Given the description of an element on the screen output the (x, y) to click on. 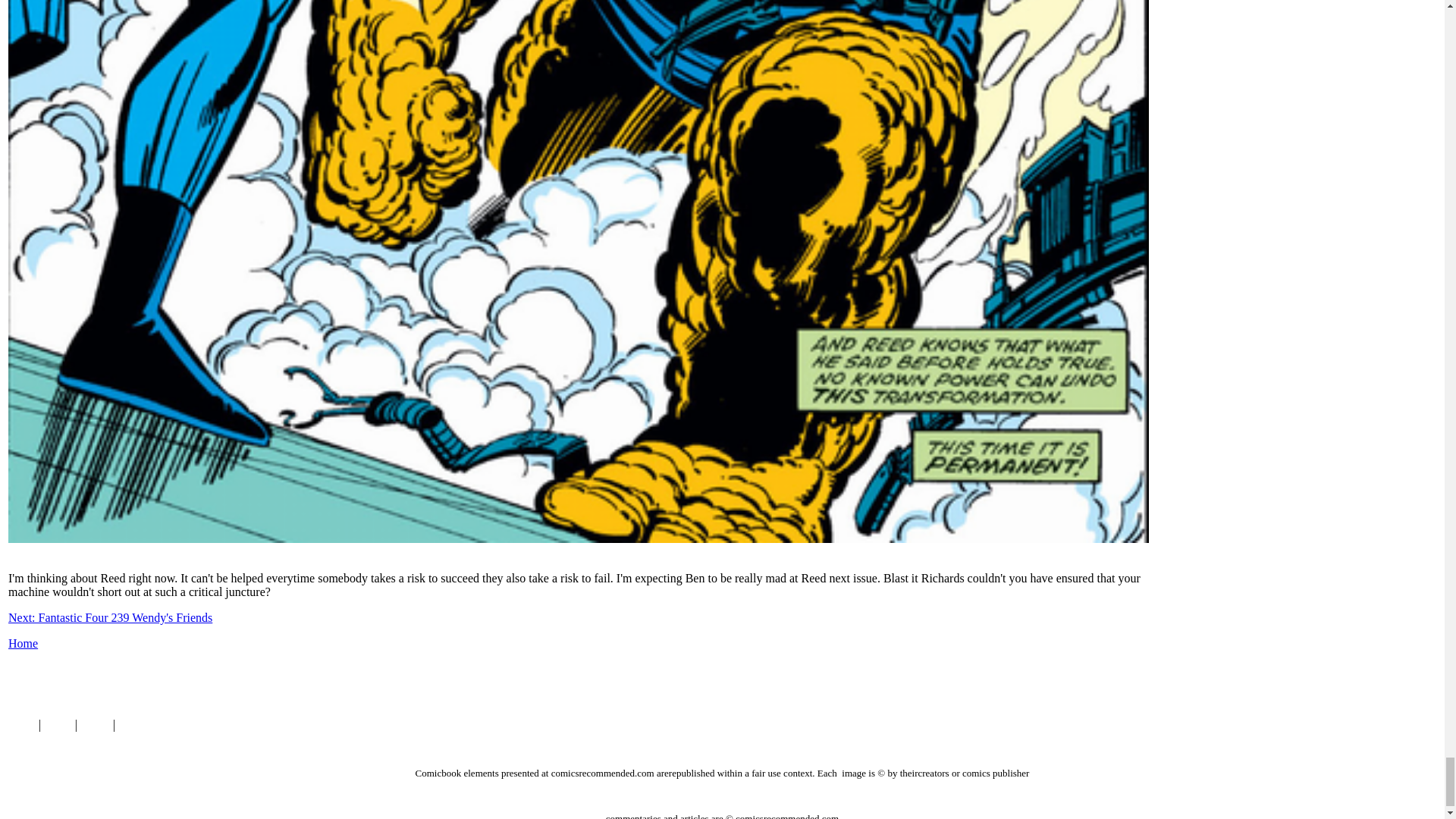
Home (22, 643)
Contact (136, 724)
Home (19, 724)
Links (57, 724)
About (95, 724)
Next: Fantastic Four 239 Wendy's Friends (110, 617)
